Given the description of an element on the screen output the (x, y) to click on. 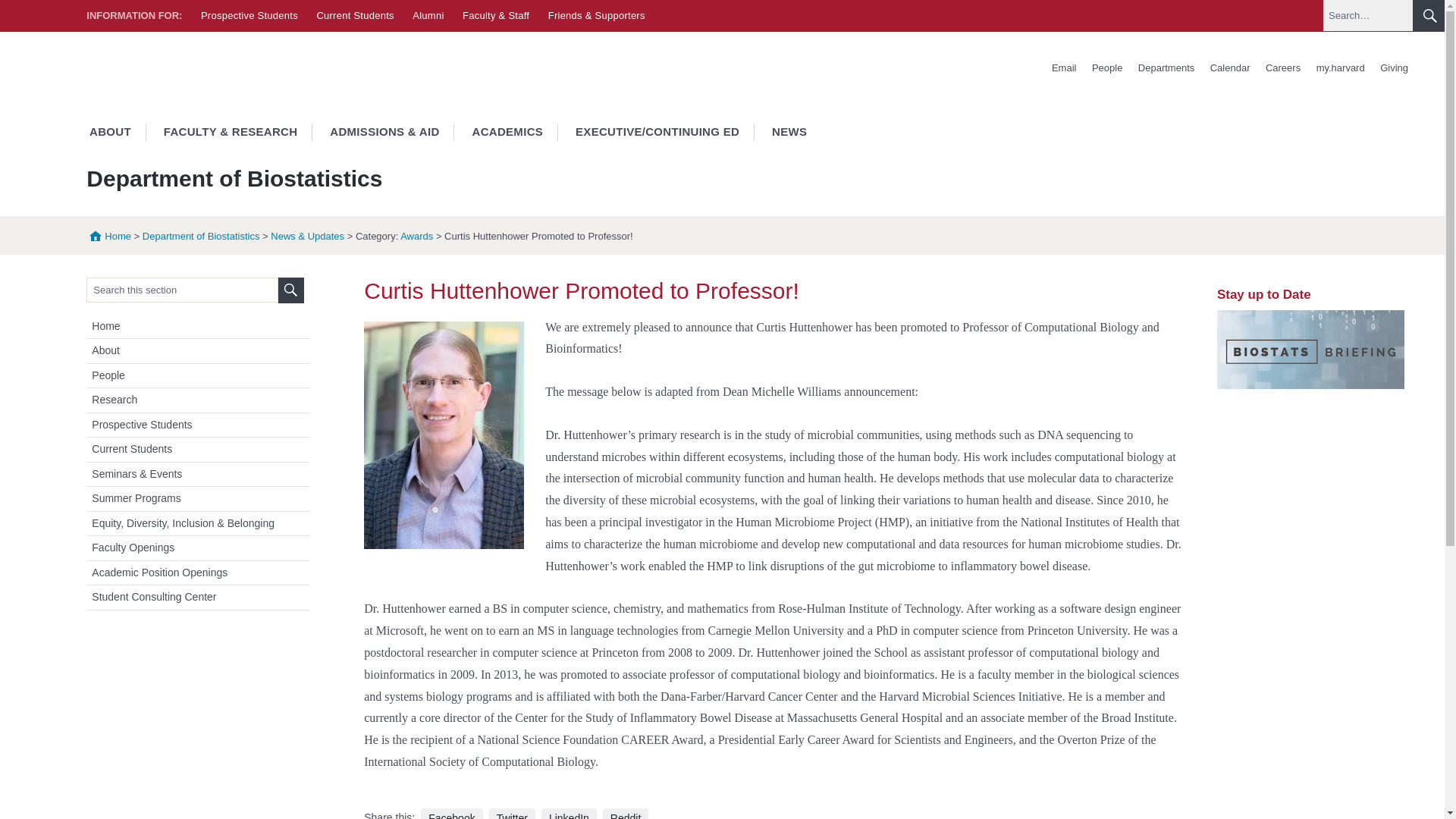
ABOUT (109, 131)
About (200, 350)
Current Students (354, 15)
Search (291, 290)
Careers (1282, 67)
Go to Harvard T.H. Chan School of Public Health. (108, 235)
Prospective Students (249, 15)
Manage Student Information (1340, 67)
Alumni (428, 15)
Department of Biostatistics (201, 235)
